Given the description of an element on the screen output the (x, y) to click on. 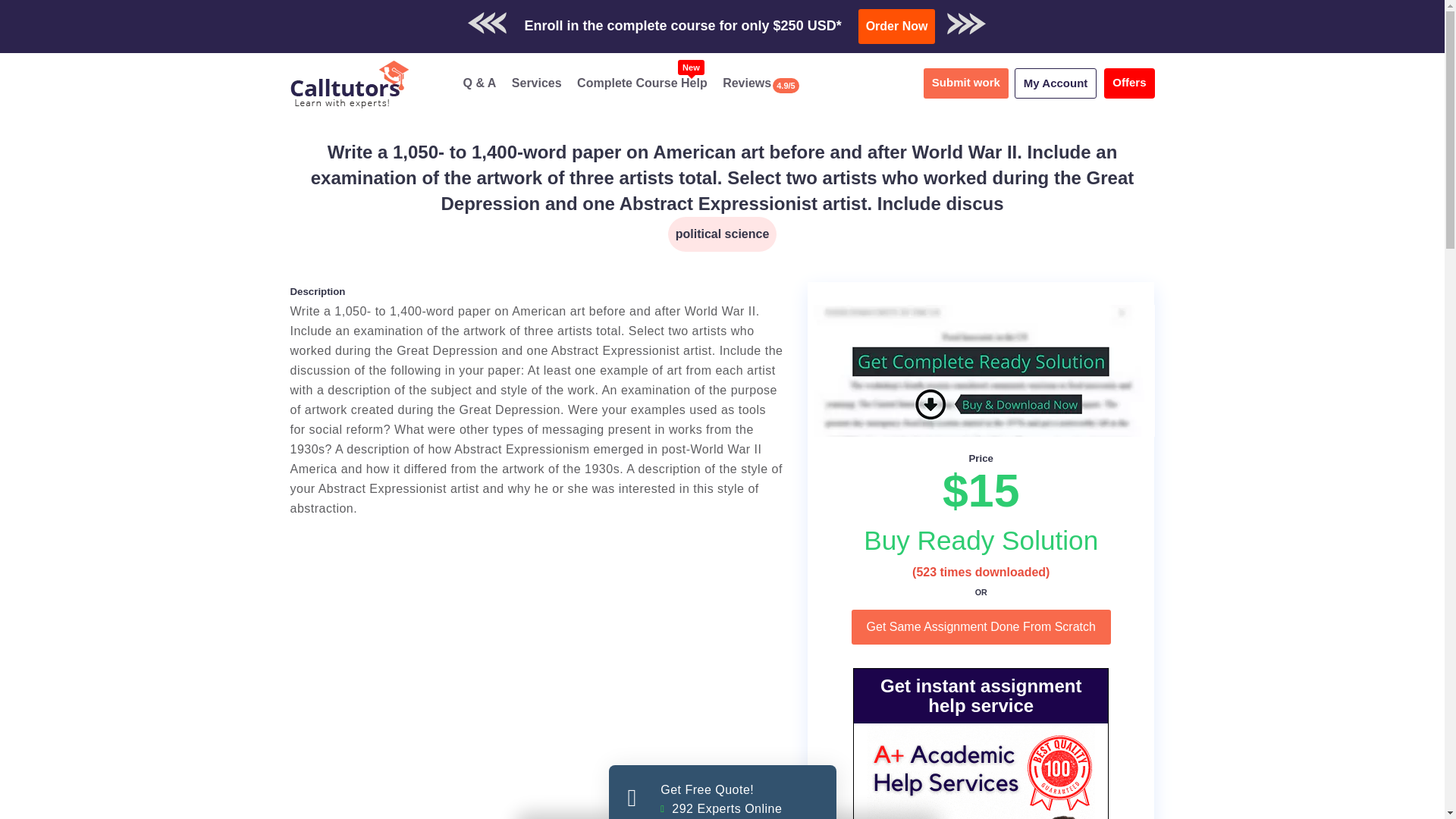
Assignment Title (721, 178)
Offers (721, 791)
Get Same Assignment Done From Scratch (1128, 82)
Submit work (980, 626)
Services (966, 82)
Assignment Subject (537, 82)
Buy Ready Soluion (722, 234)
Buy Ready Solution (981, 540)
Submit Work (981, 540)
Download Sample (773, 19)
Get Same Assignment Done From Scratch (901, 18)
My Account (980, 626)
Order Now (1055, 82)
